Given the description of an element on the screen output the (x, y) to click on. 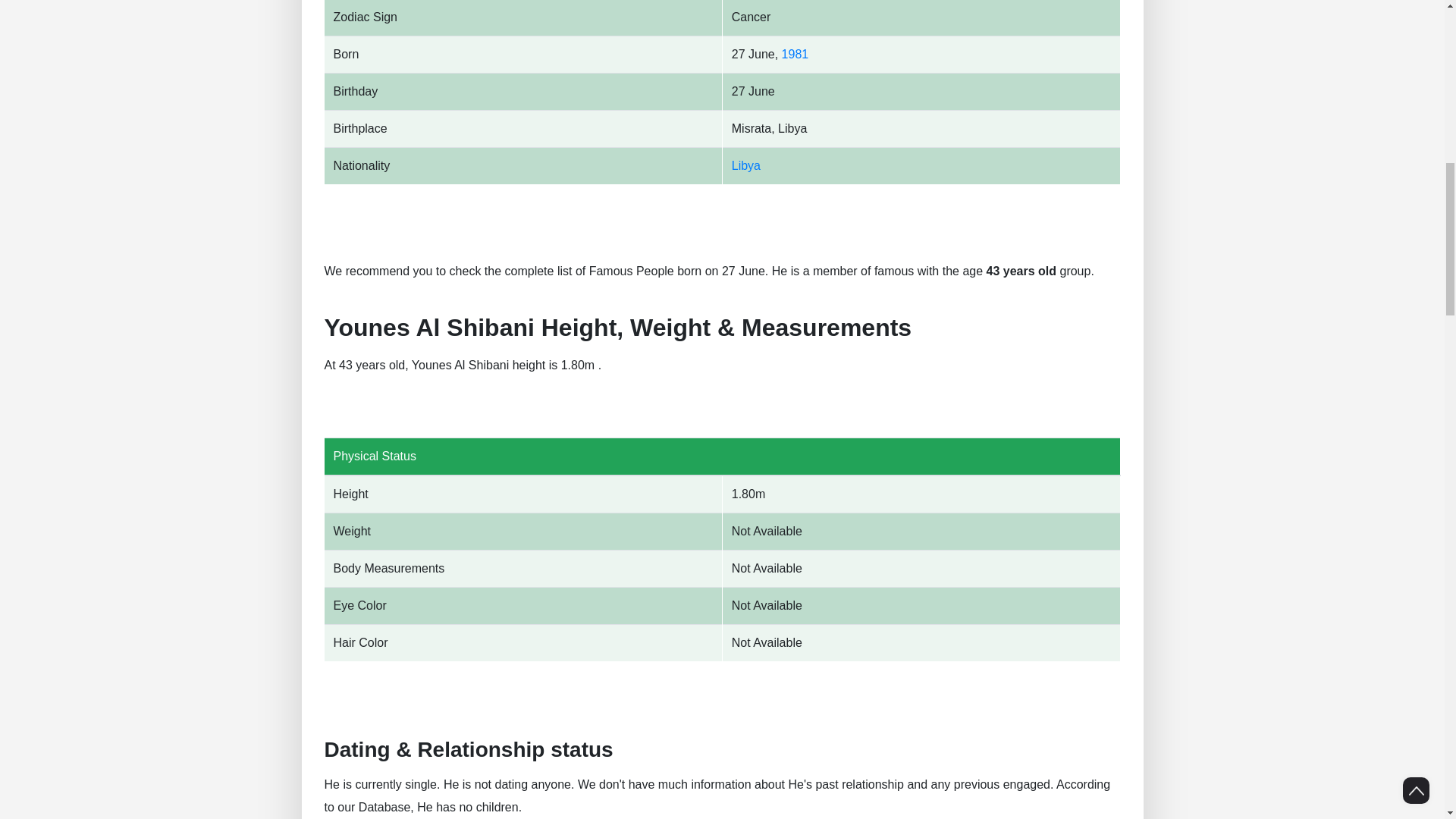
1981 (795, 53)
Libya (746, 164)
